Given the description of an element on the screen output the (x, y) to click on. 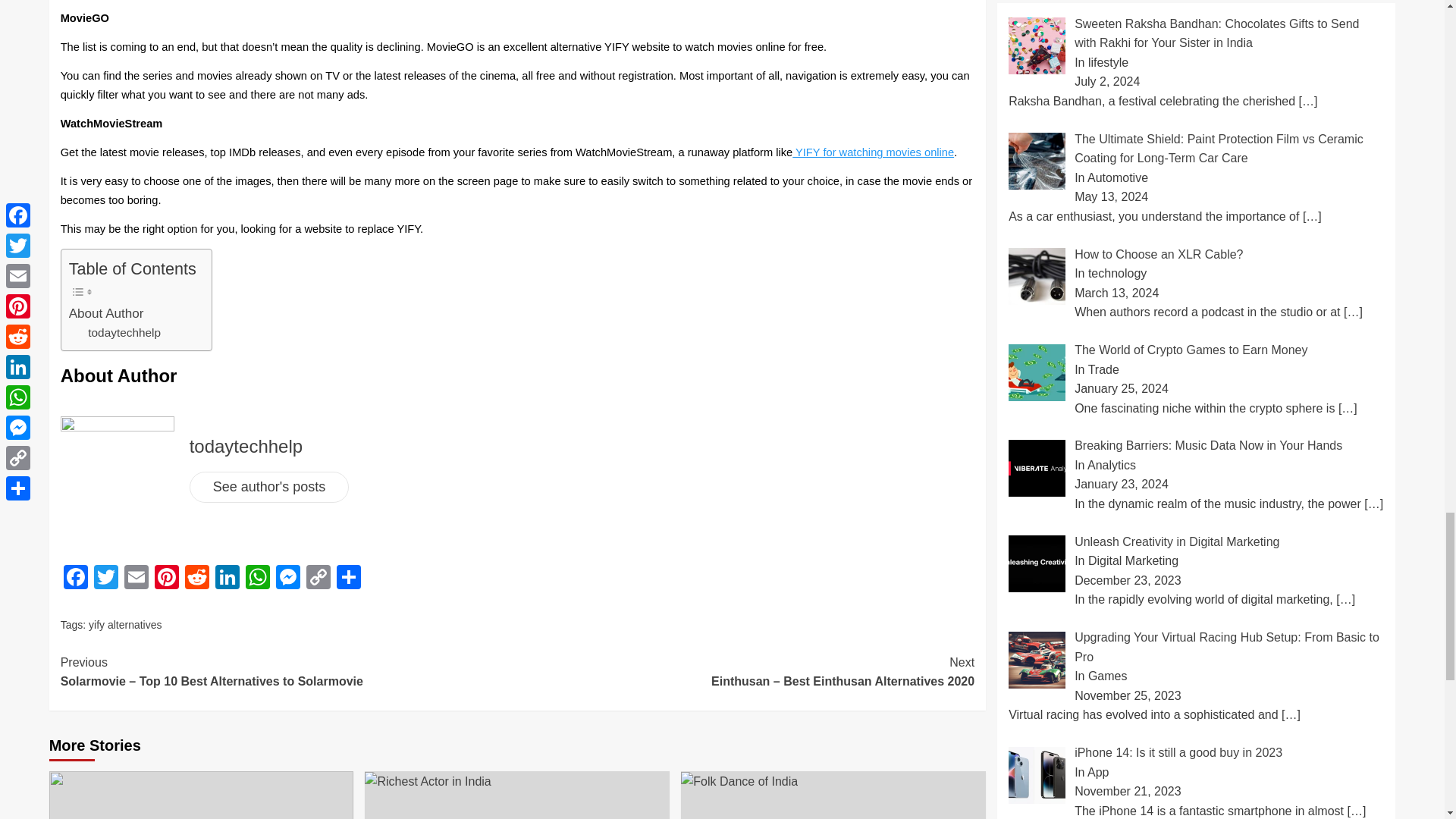
WhatsApp (258, 578)
Pinterest (166, 578)
Facebook (75, 578)
LinkedIn (227, 578)
About Author (106, 313)
Email (135, 578)
Messenger (287, 578)
Twitter (105, 578)
 todaytechhelp  (123, 333)
Reddit (197, 578)
